Given the description of an element on the screen output the (x, y) to click on. 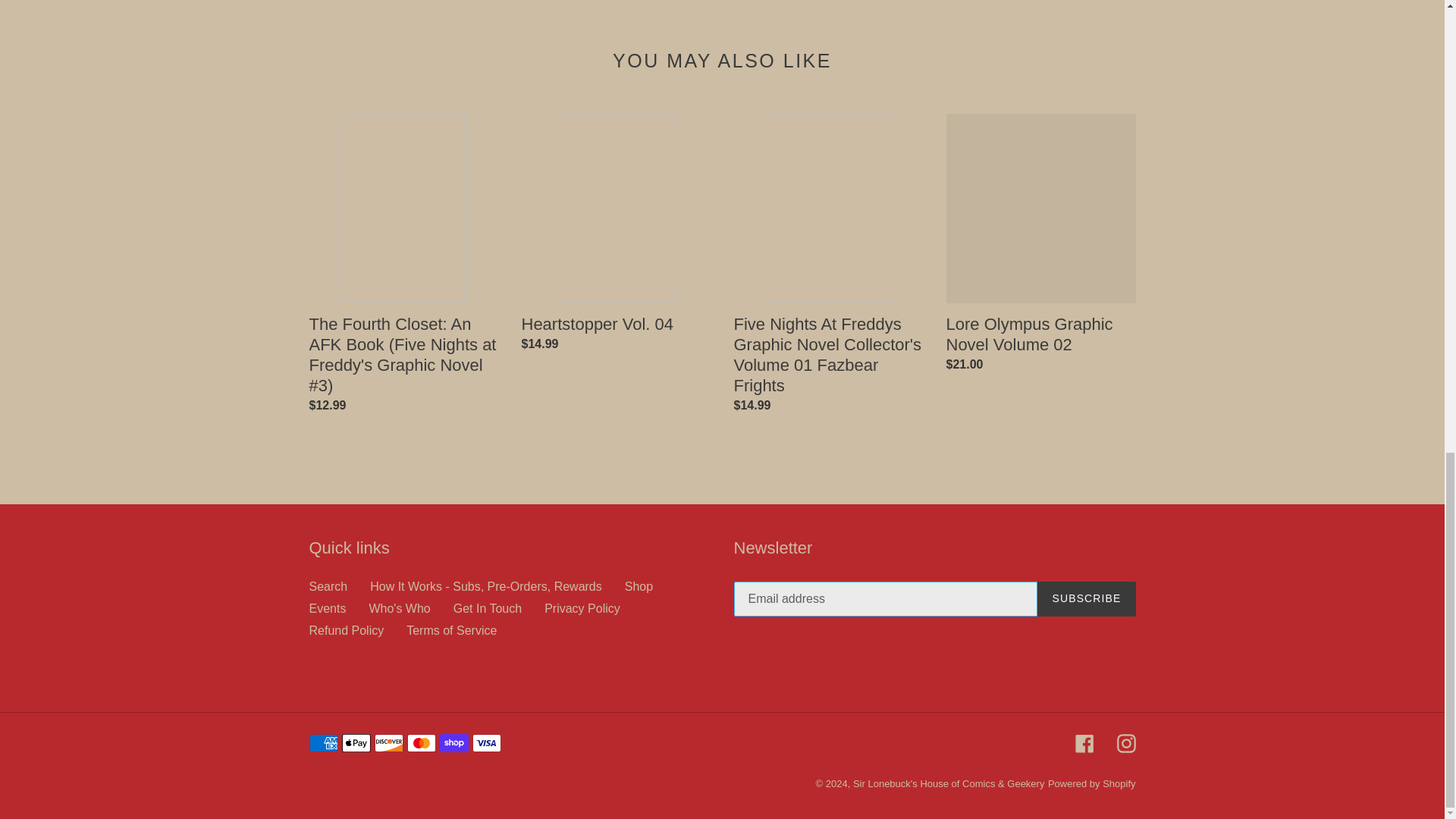
Apple Pay (354, 742)
Mastercard (420, 742)
Discover (388, 742)
Who's Who (398, 608)
Shop Pay (453, 742)
Events (327, 608)
Shop (638, 585)
Visa (485, 742)
Search (327, 585)
American Express (322, 742)
